Given the description of an element on the screen output the (x, y) to click on. 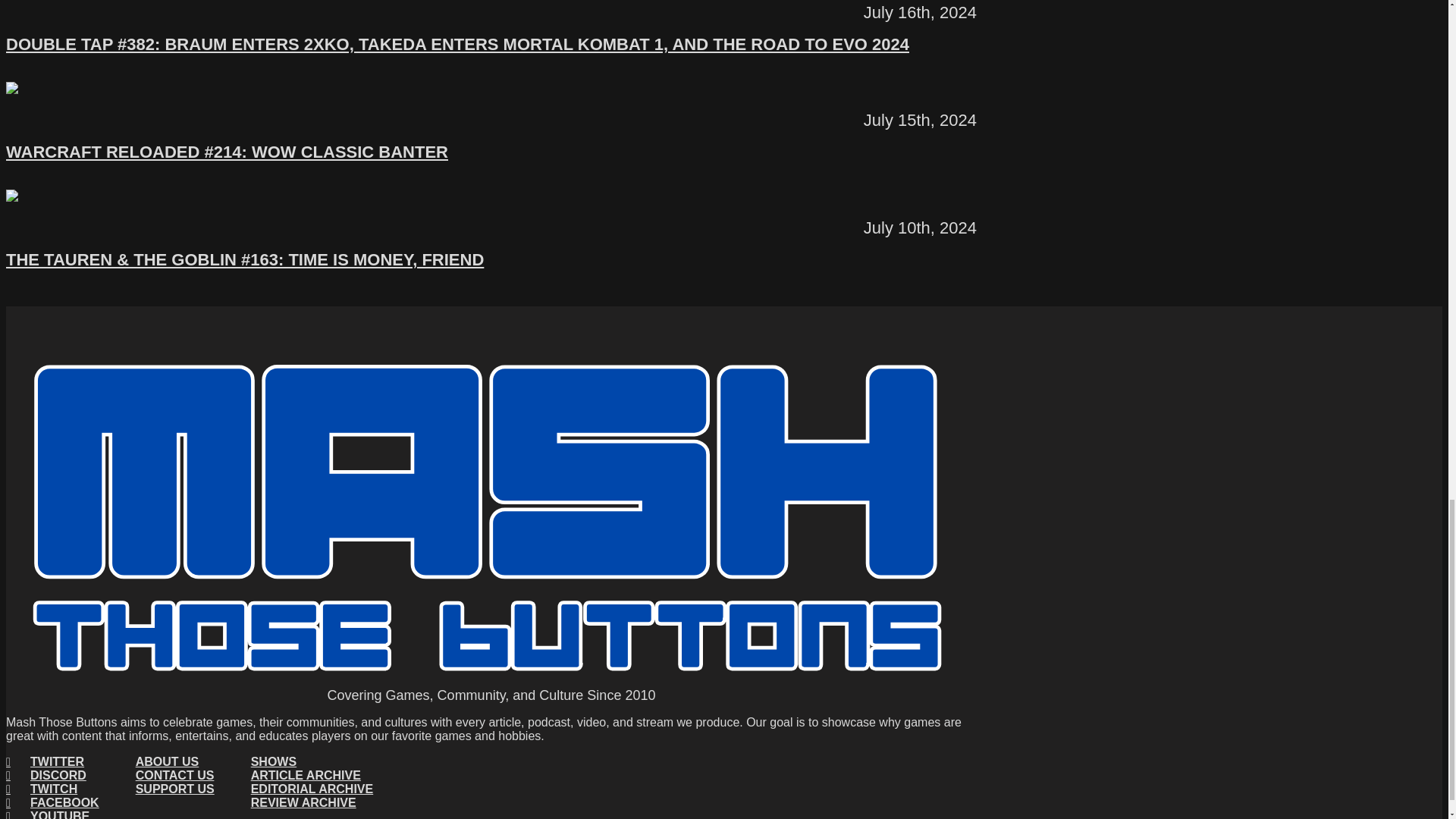
EDITORIAL ARCHIVE (312, 789)
REVIEW ARCHIVE (312, 802)
TWITCH (52, 789)
SHOWS (312, 762)
CONTACT US (174, 775)
SUPPORT US (174, 789)
FACEBOOK (52, 802)
DISCORD (52, 775)
ABOUT US (174, 762)
ARTICLE ARCHIVE (312, 775)
TWITTER (52, 762)
